Given the description of an element on the screen output the (x, y) to click on. 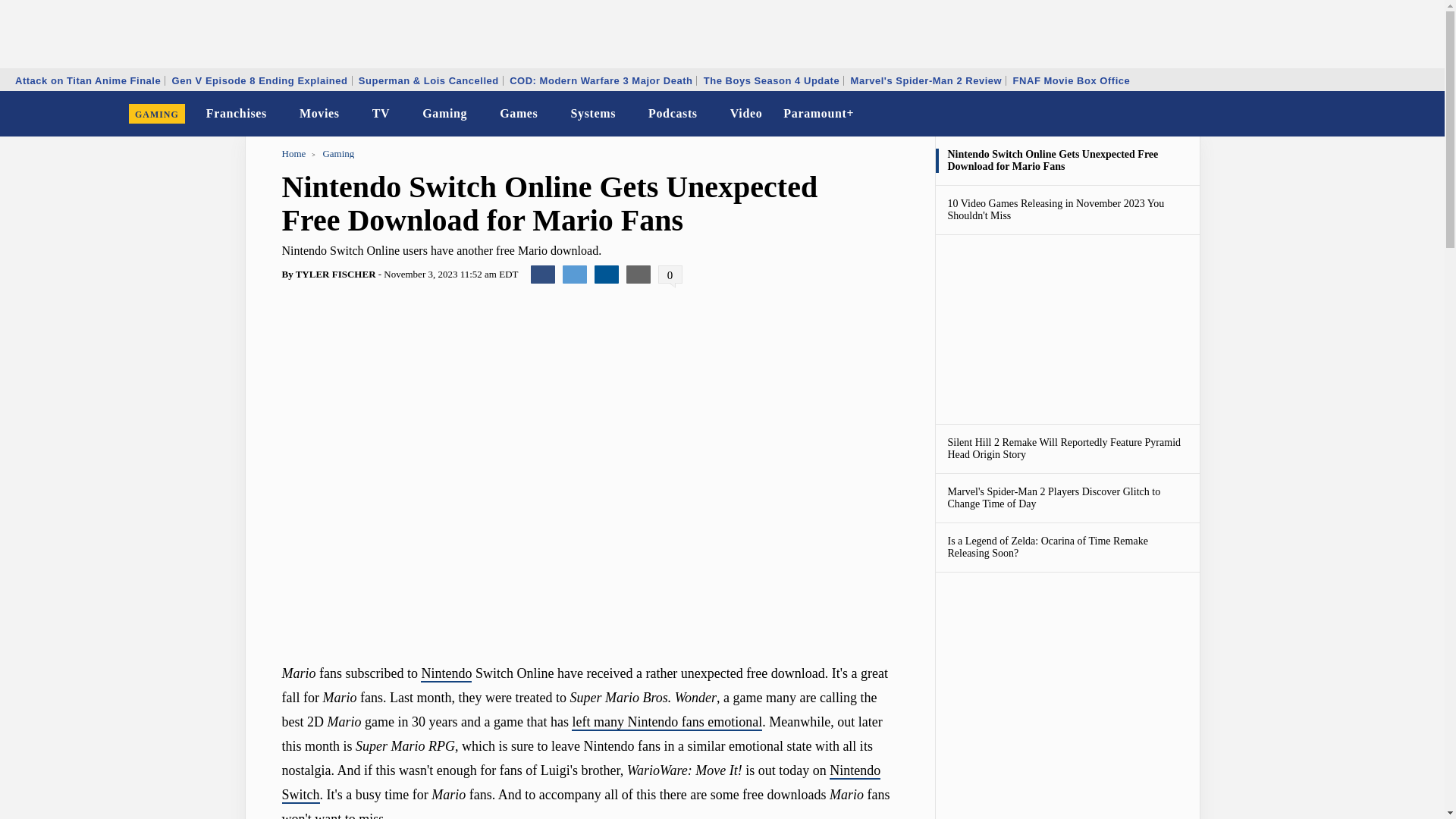
COD: Modern Warfare 3 Major Death (600, 80)
Movies (320, 113)
Search (1422, 114)
The Boys Season 4 Update (771, 80)
Dark Mode (1394, 113)
FNAF Movie Box Office (1071, 80)
Gen V Episode 8 Ending Explained (260, 80)
GAMING (157, 113)
Attack on Titan Anime Finale (87, 80)
Marvel's Spider-Man 2 Review (926, 80)
